Given the description of an element on the screen output the (x, y) to click on. 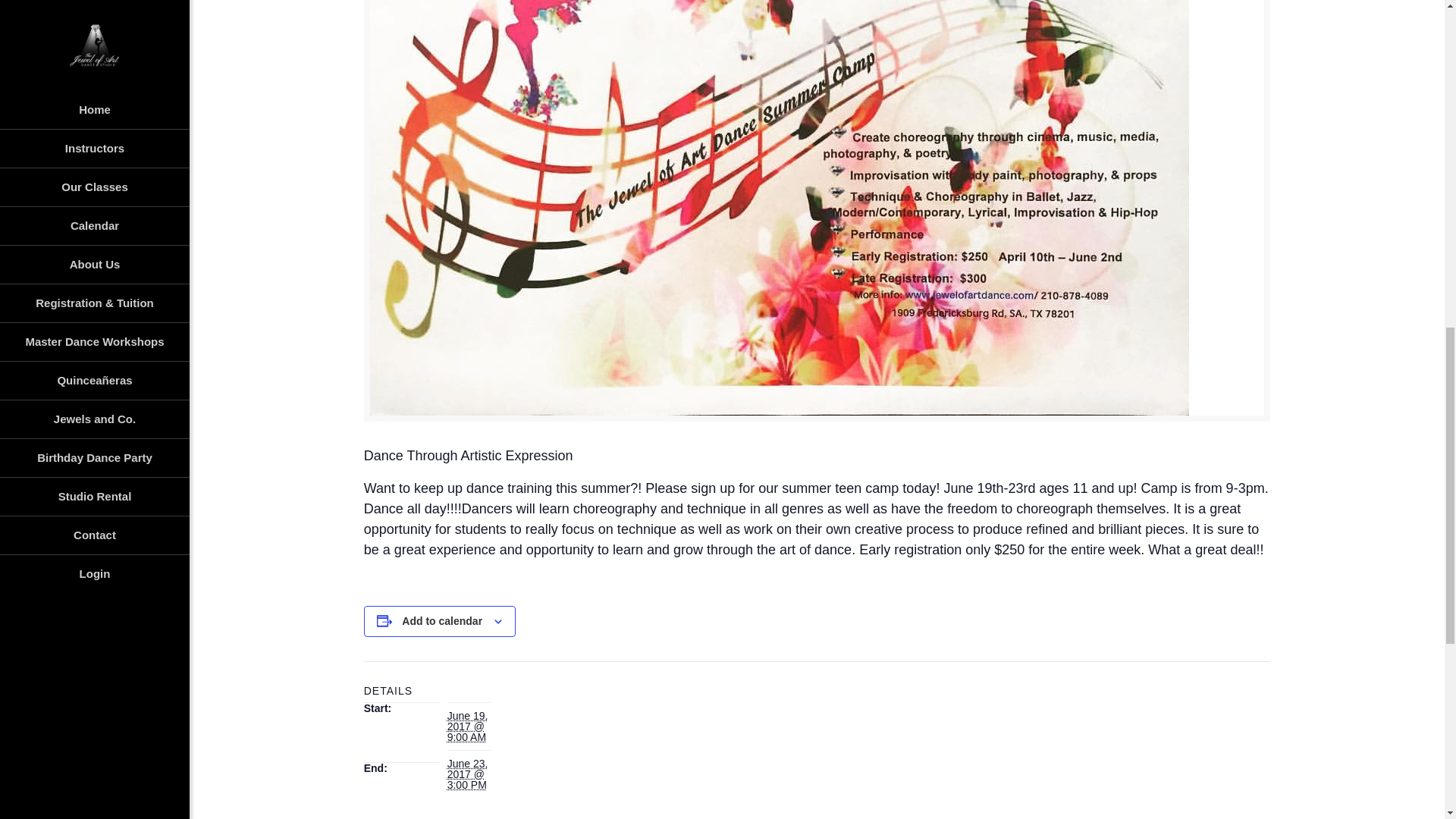
2017-06-23 (466, 774)
2017-06-19 (466, 726)
Add to calendar (441, 621)
